Given the description of an element on the screen output the (x, y) to click on. 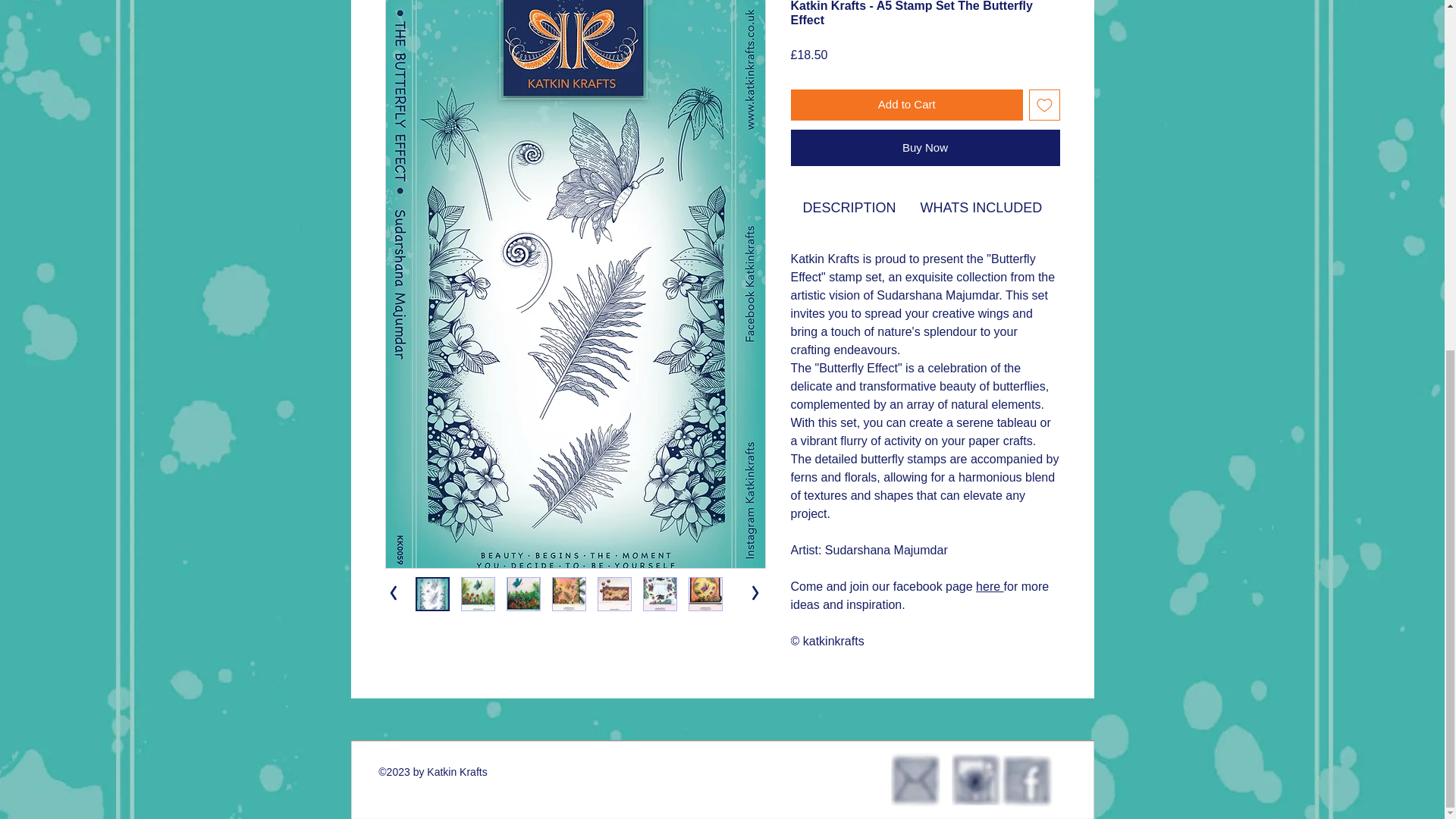
Use right and left arrows to navigate between tabs (981, 207)
Add to Cart (906, 104)
Use right and left arrows to navigate between tabs (848, 207)
Buy Now (924, 147)
here (989, 585)
